Given the description of an element on the screen output the (x, y) to click on. 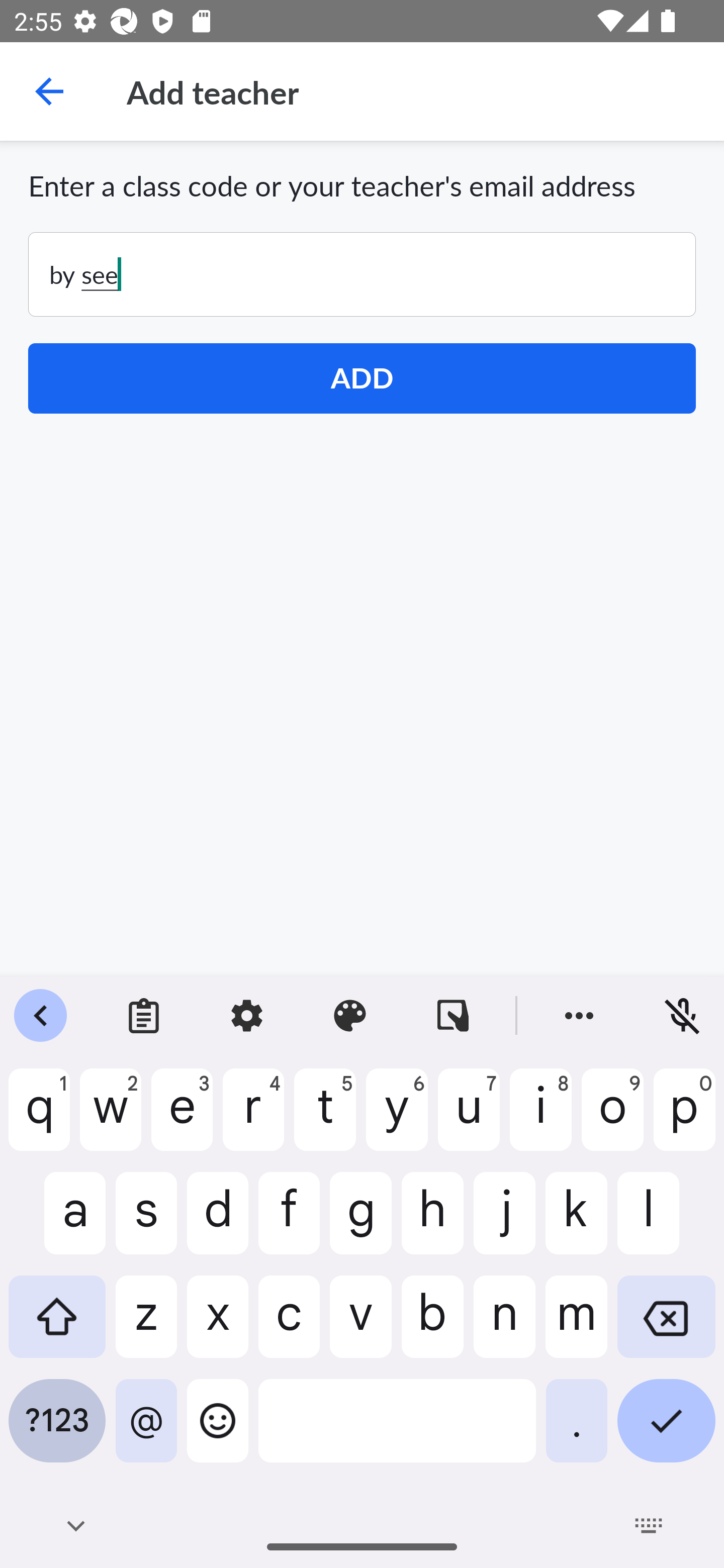
Navigate up (49, 91)
by see e.g. ABC123 or teacher@example.com (361, 274)
ADD (361, 378)
